Given the description of an element on the screen output the (x, y) to click on. 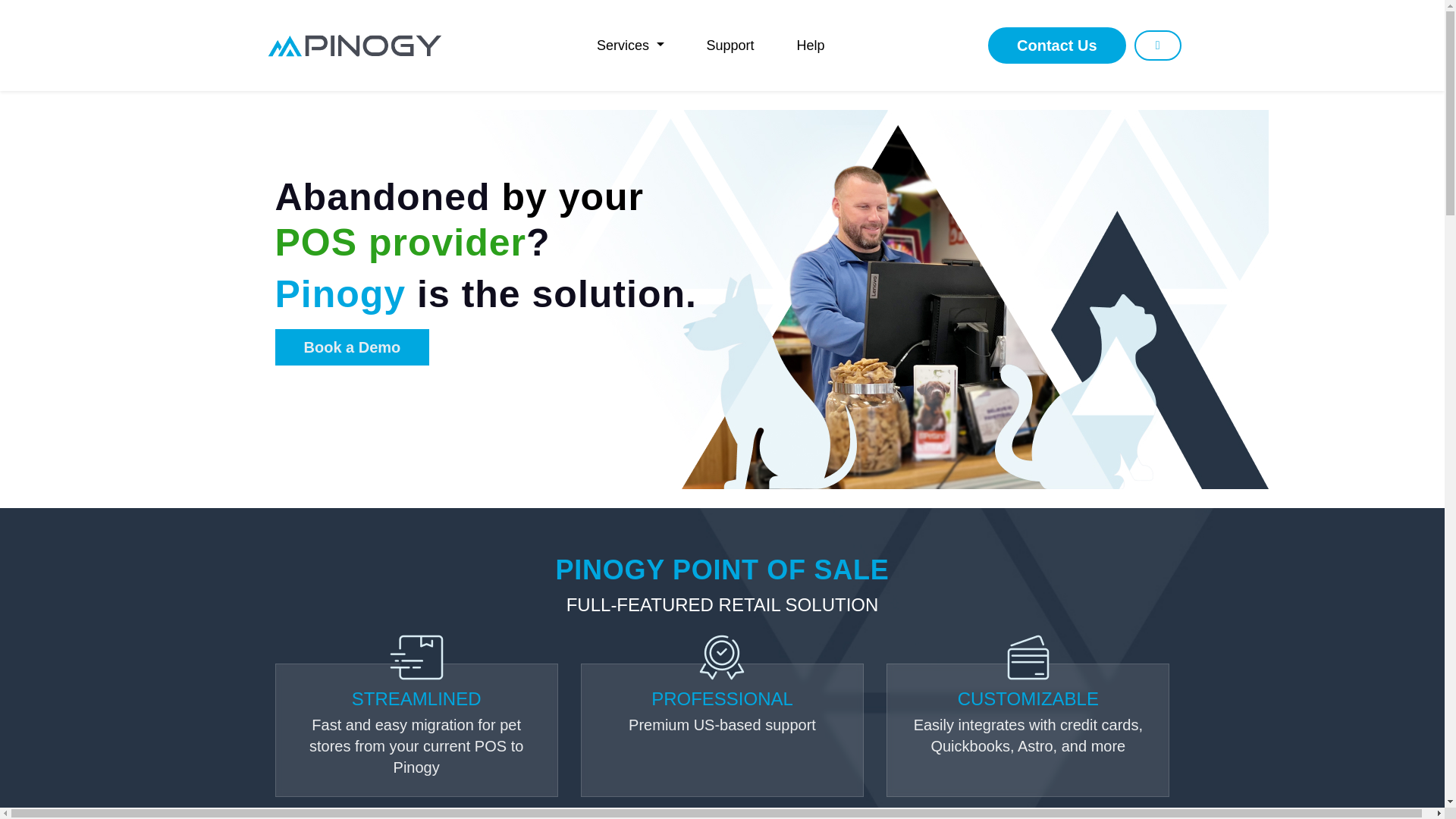
Book a Demo (352, 347)
Support (730, 44)
Services (630, 44)
Help (810, 44)
Pinogy Corporation (354, 45)
Sign in (1157, 45)
Contact Us (1056, 45)
